Given the description of an element on the screen output the (x, y) to click on. 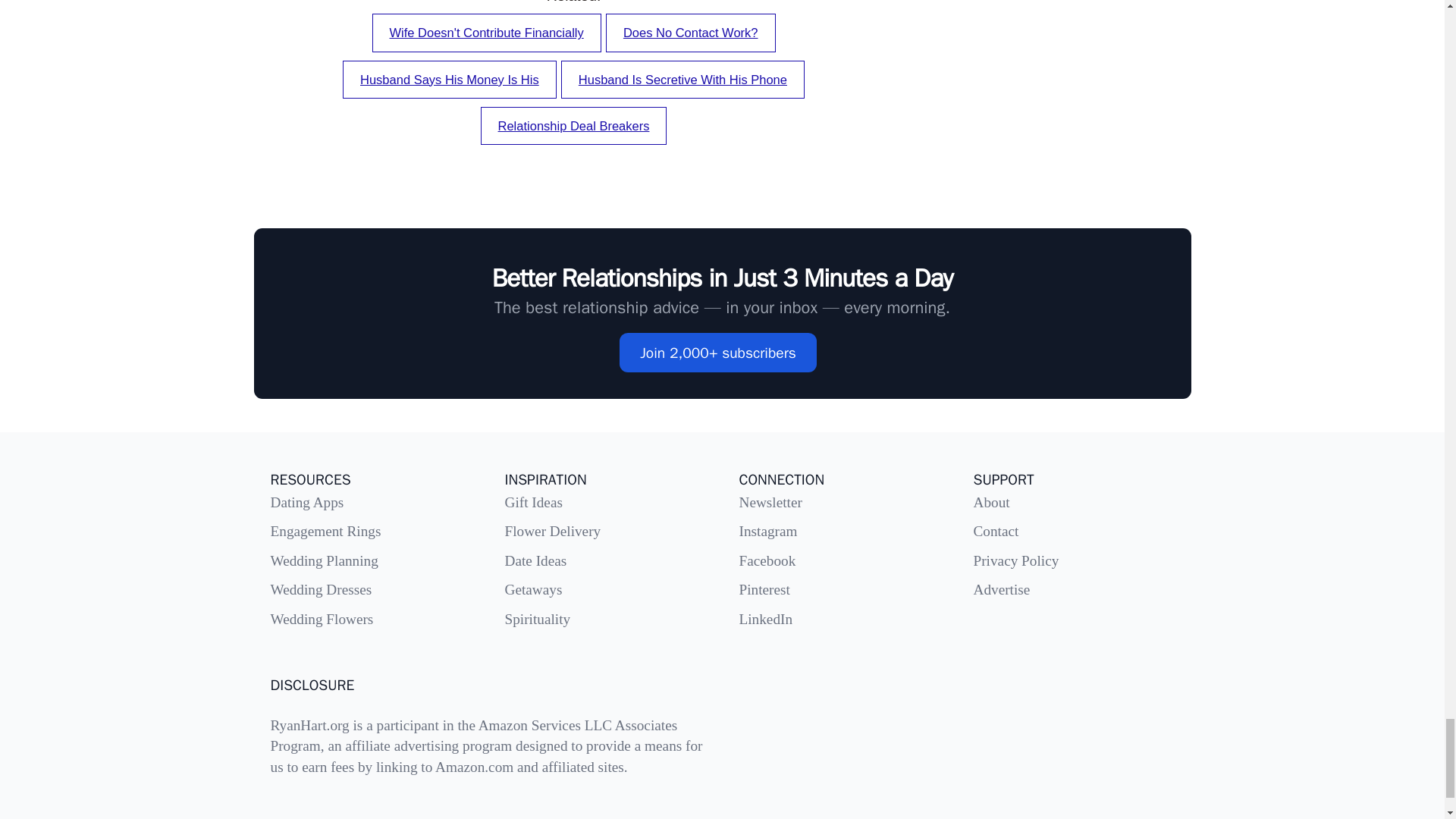
Husband Is Secretive With His Phone (682, 79)
Relationship Deal Breakers (573, 125)
Wedding Planning (323, 560)
Dating Apps (306, 502)
Engagement Rings (324, 530)
Wife Doesn't Contribute Financially (485, 32)
Does No Contact Work? (690, 32)
Husband Says His Money Is His (449, 79)
